Given the description of an element on the screen output the (x, y) to click on. 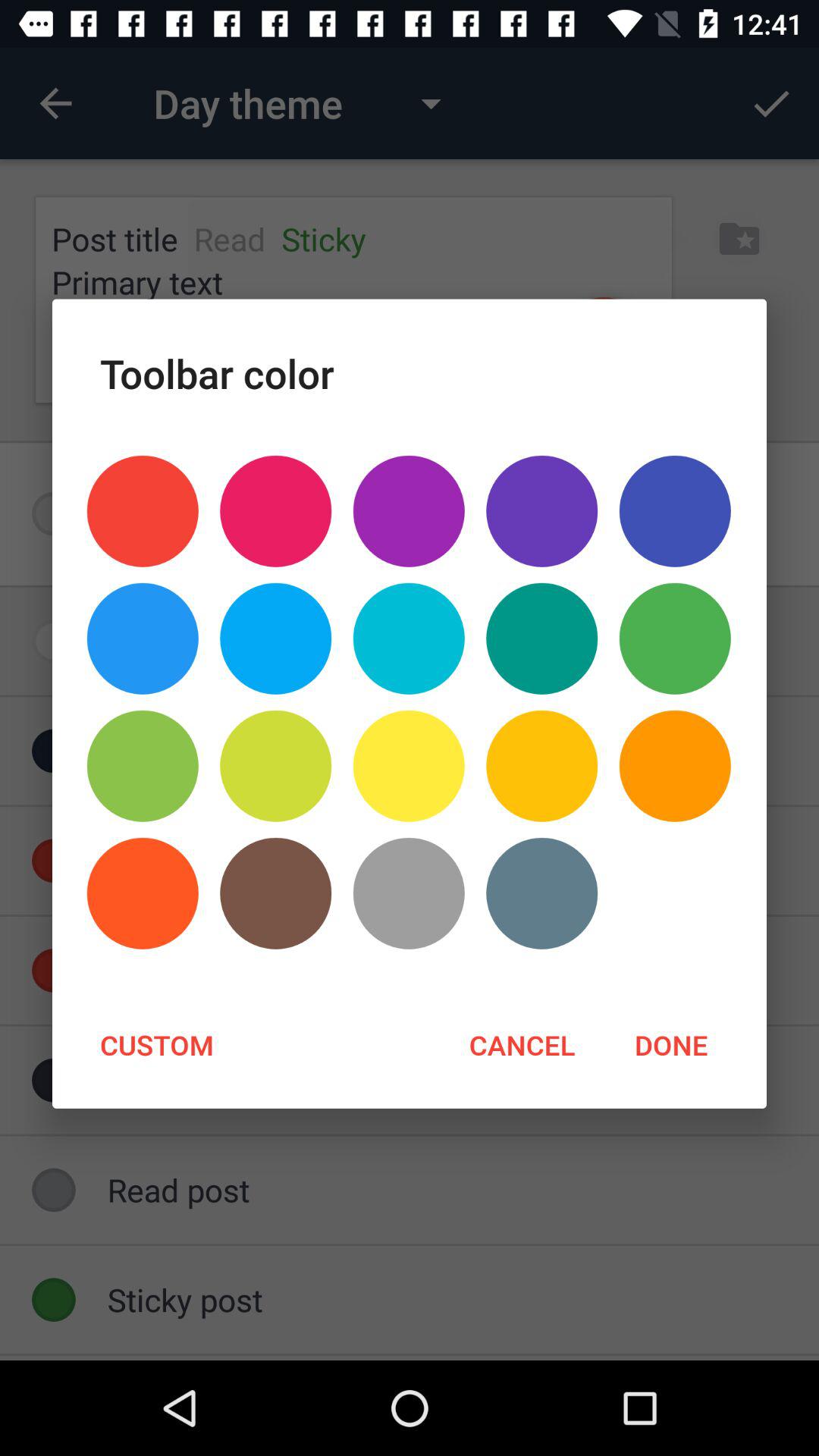
press done (670, 1044)
